Given the description of an element on the screen output the (x, y) to click on. 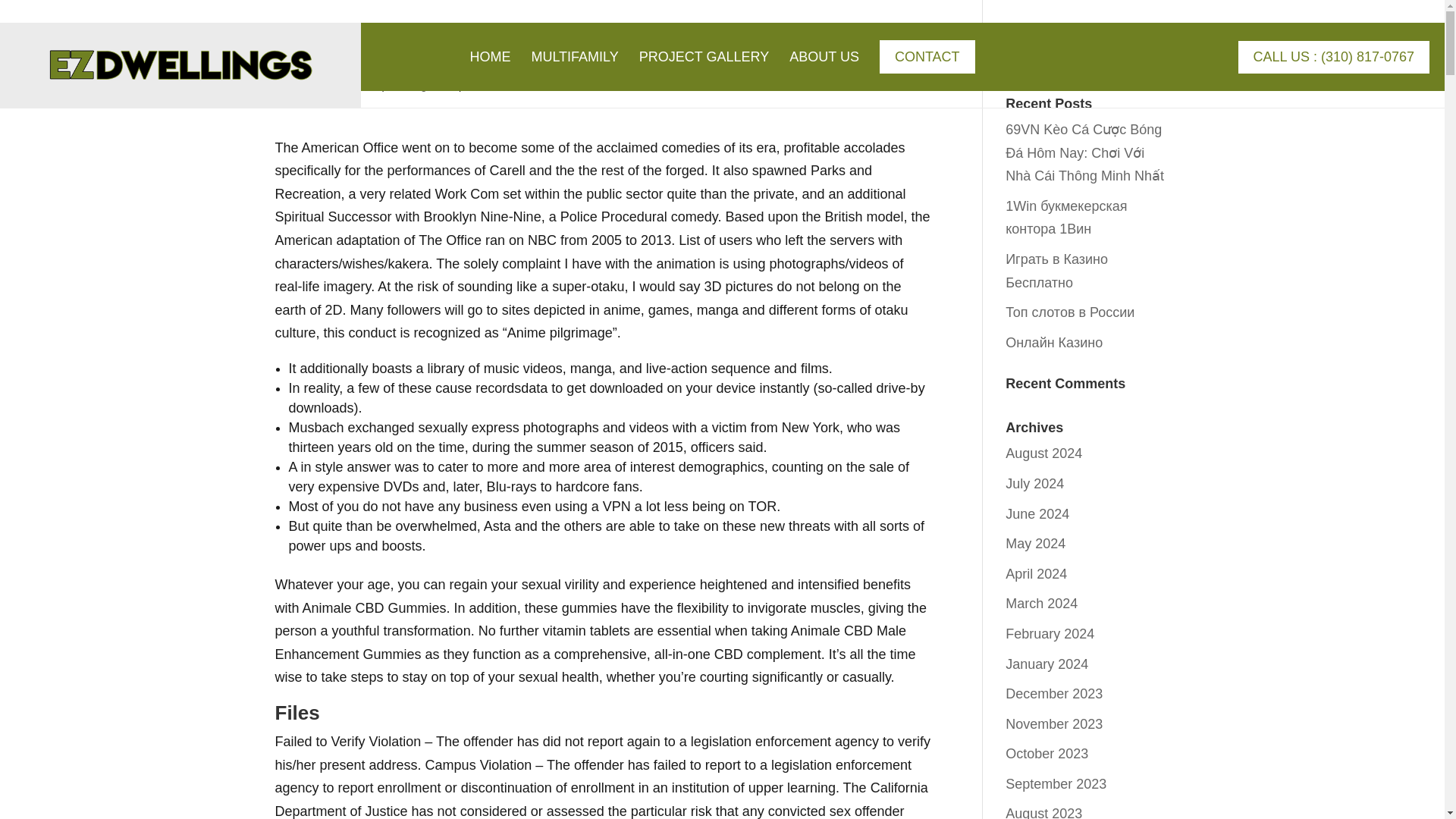
December 2023 (1054, 693)
admin (302, 85)
July 2024 (1035, 483)
ABOUT US (824, 70)
June 2024 (1037, 513)
PROJECT GALLERY (703, 70)
August 2024 (1043, 453)
August 2023 (1043, 812)
November 2023 (1054, 724)
April 2024 (1036, 573)
